Given the description of an element on the screen output the (x, y) to click on. 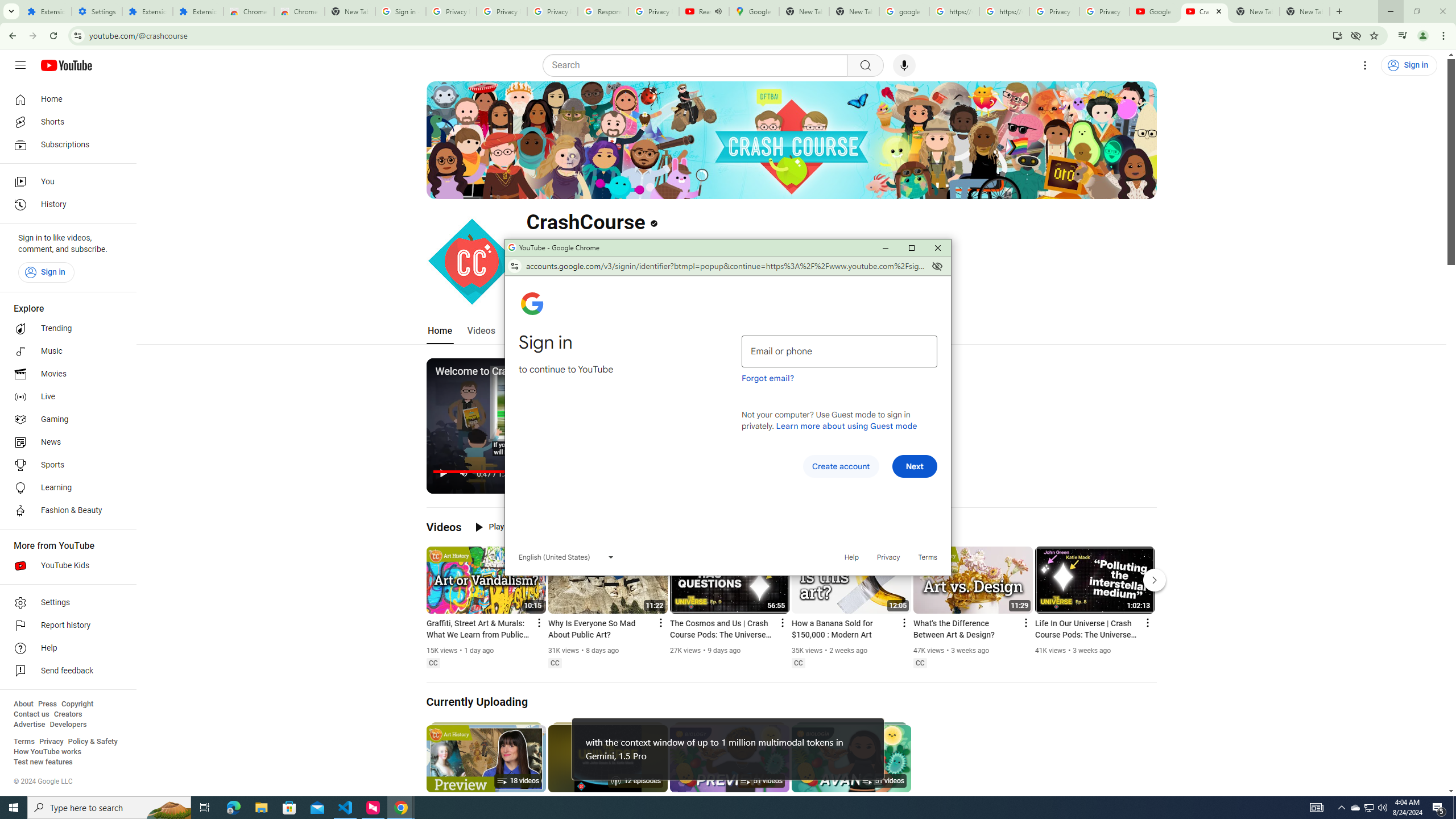
Press (46, 703)
Send feedback (64, 671)
Closed captions (919, 662)
News (64, 441)
Maximize (911, 248)
Microsoft Store (1368, 807)
History (289, 807)
